Given the description of an element on the screen output the (x, y) to click on. 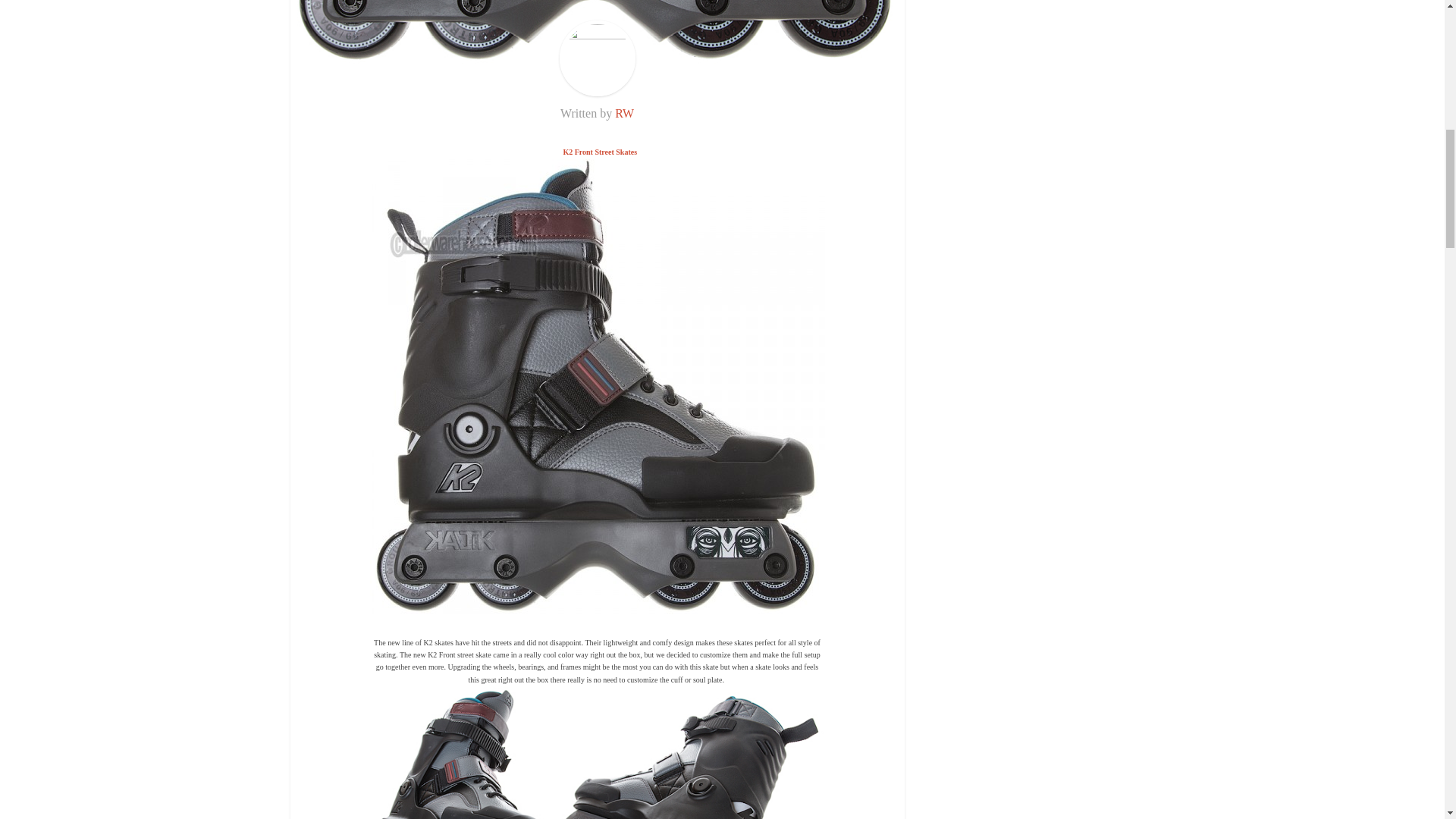
 K2 Front Street Skates (598, 152)
RW (623, 113)
